Given the description of an element on the screen output the (x, y) to click on. 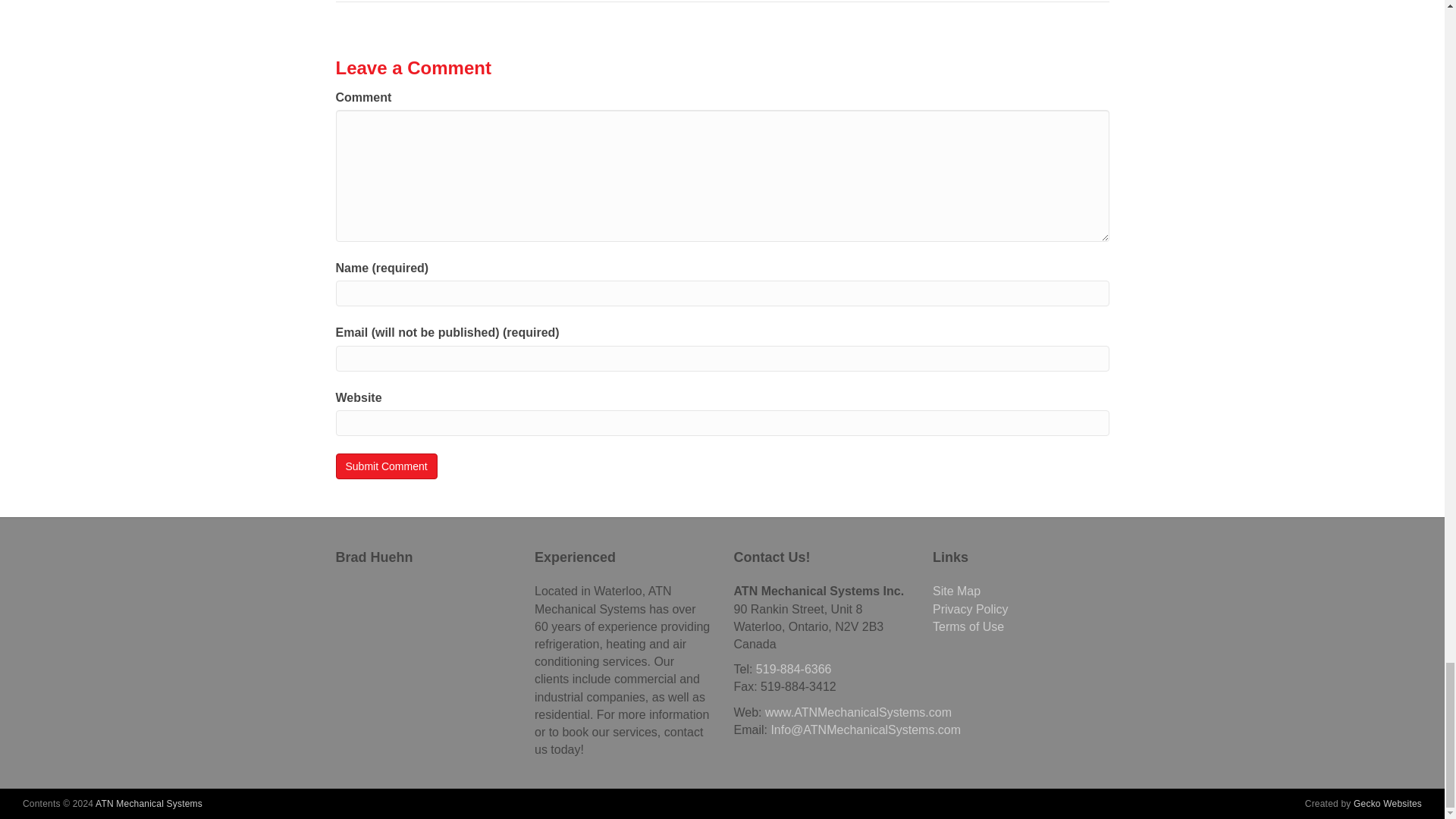
Site Map (956, 590)
Submit Comment (385, 466)
www.ATNMechanicalSystems.com (858, 711)
Terms of Use (968, 626)
Privacy Policy (971, 608)
519-884-6366 (793, 668)
Submit Comment (385, 466)
